Given the description of an element on the screen output the (x, y) to click on. 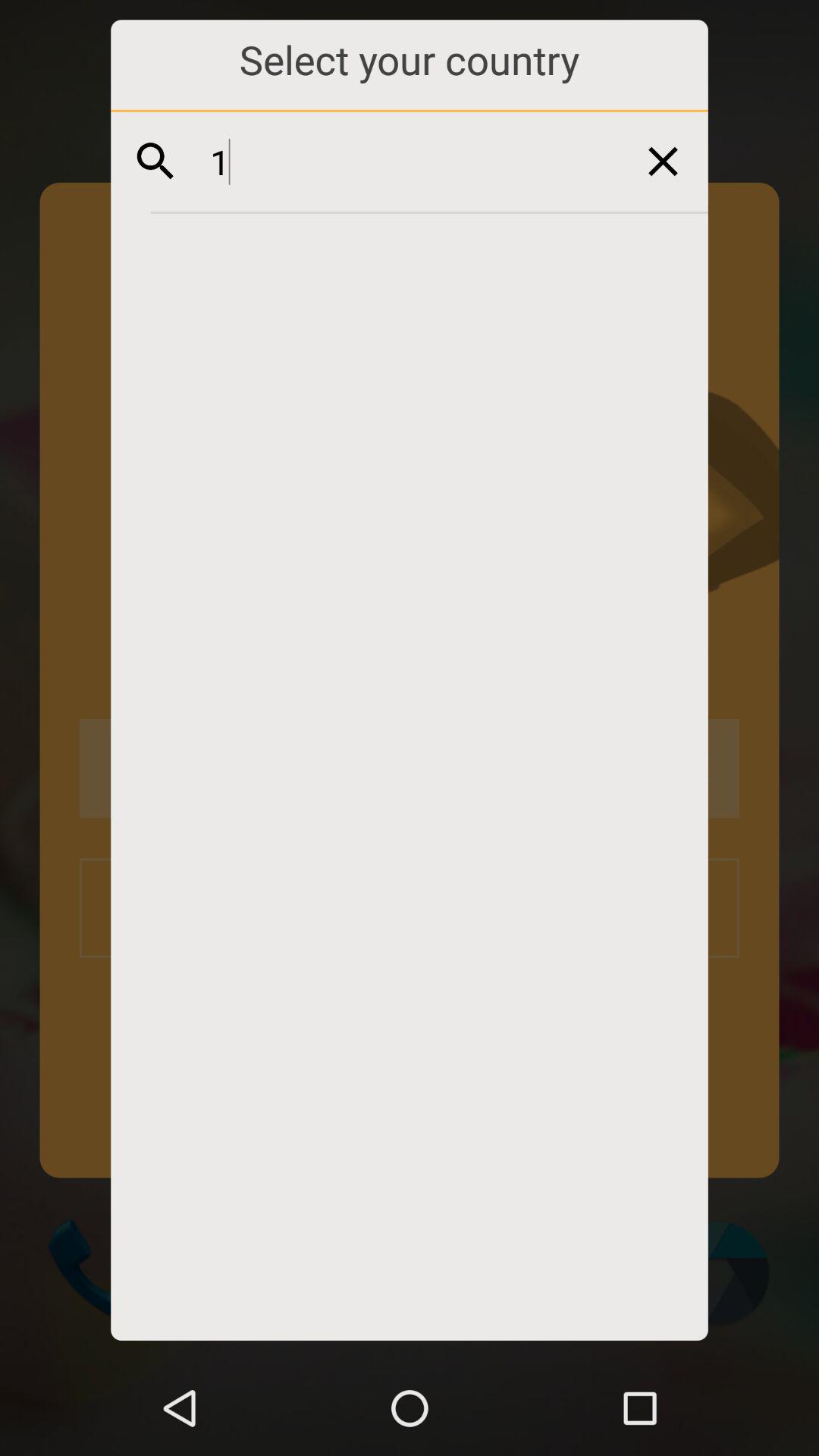
clear text field (663, 161)
